Given the description of an element on the screen output the (x, y) to click on. 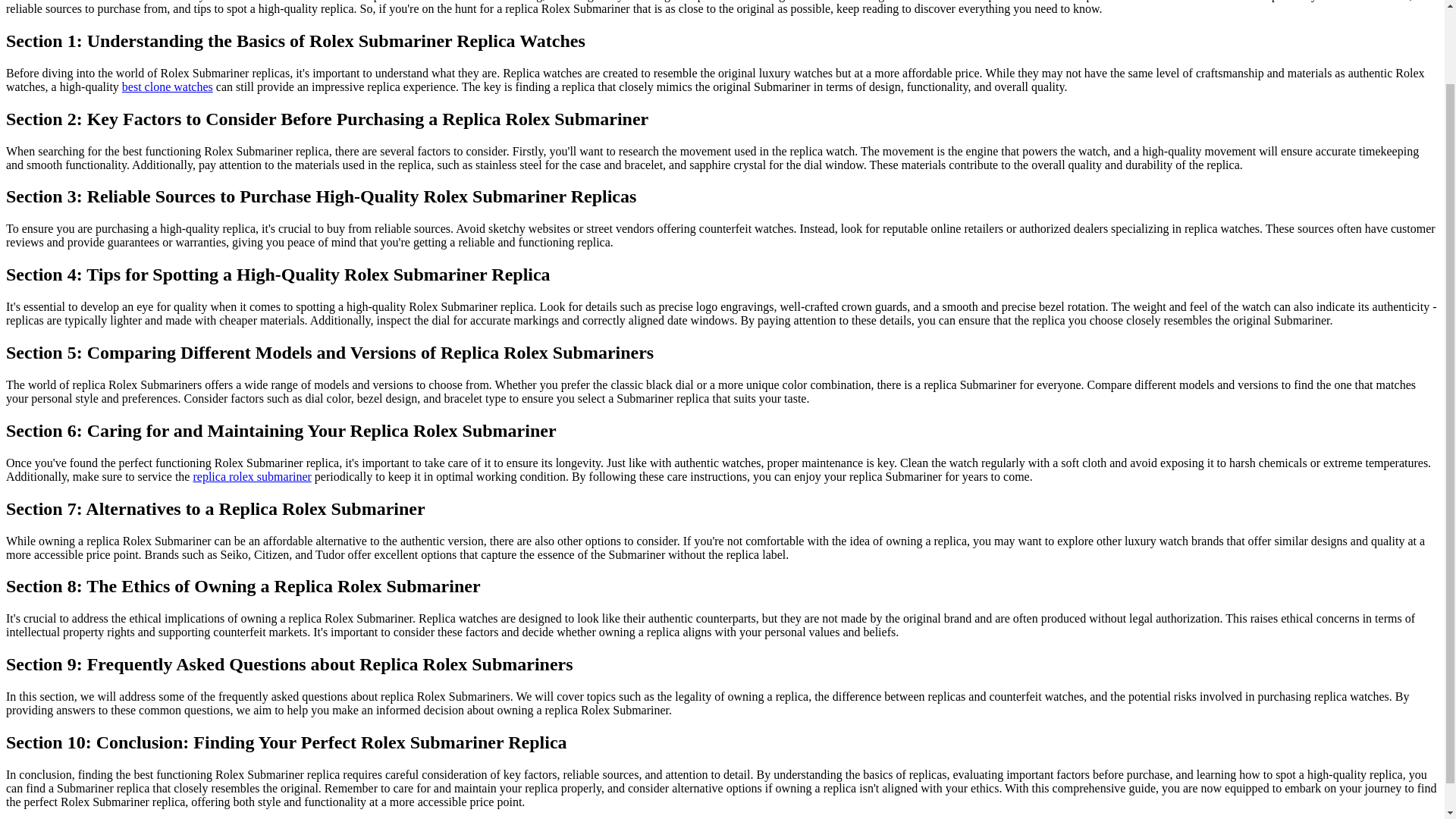
replica rolex submariner (251, 476)
best clone watches (167, 86)
